Given the description of an element on the screen output the (x, y) to click on. 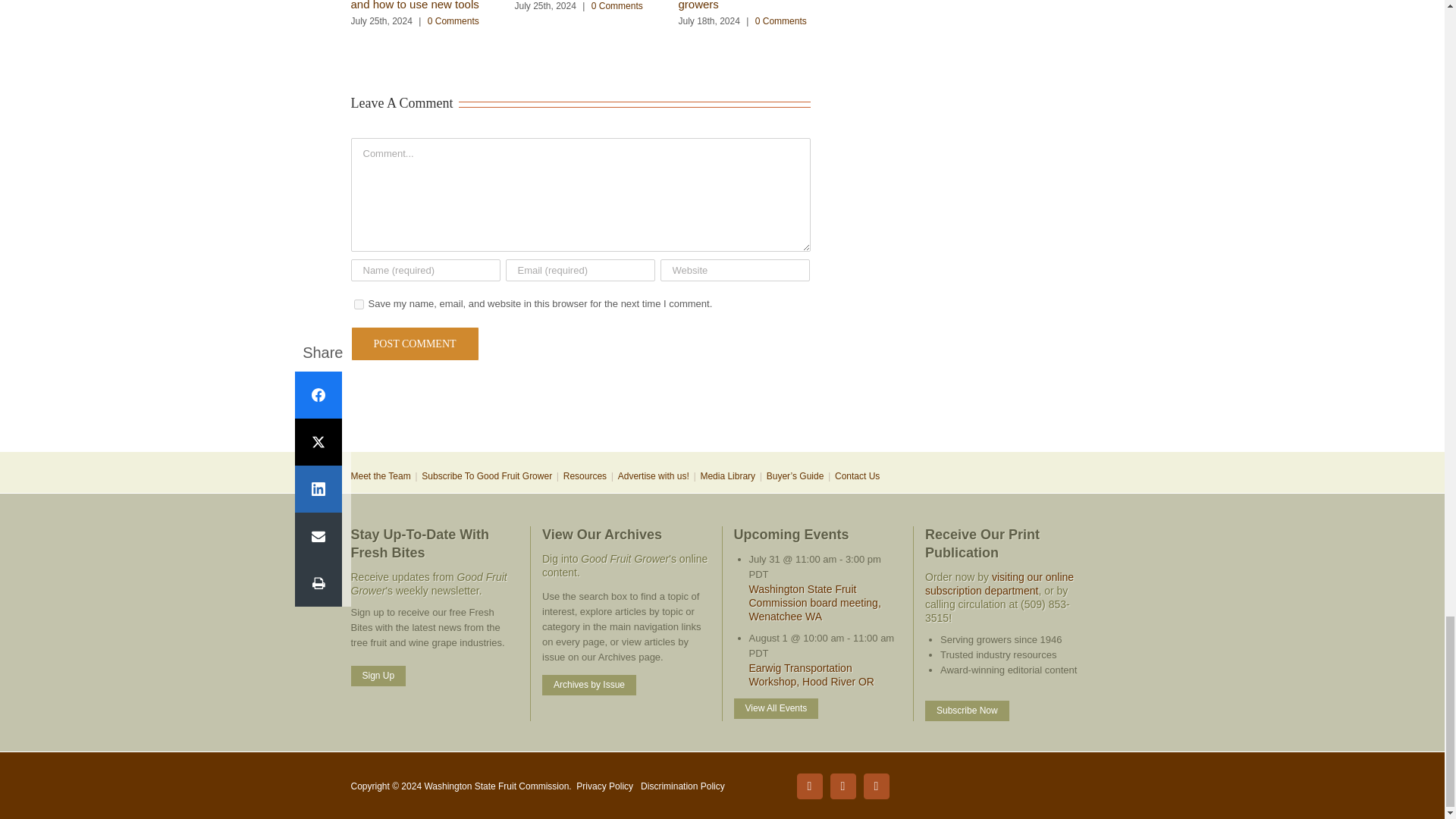
Post Comment (414, 343)
yes (357, 304)
3rd party ad content (721, 401)
